Given the description of an element on the screen output the (x, y) to click on. 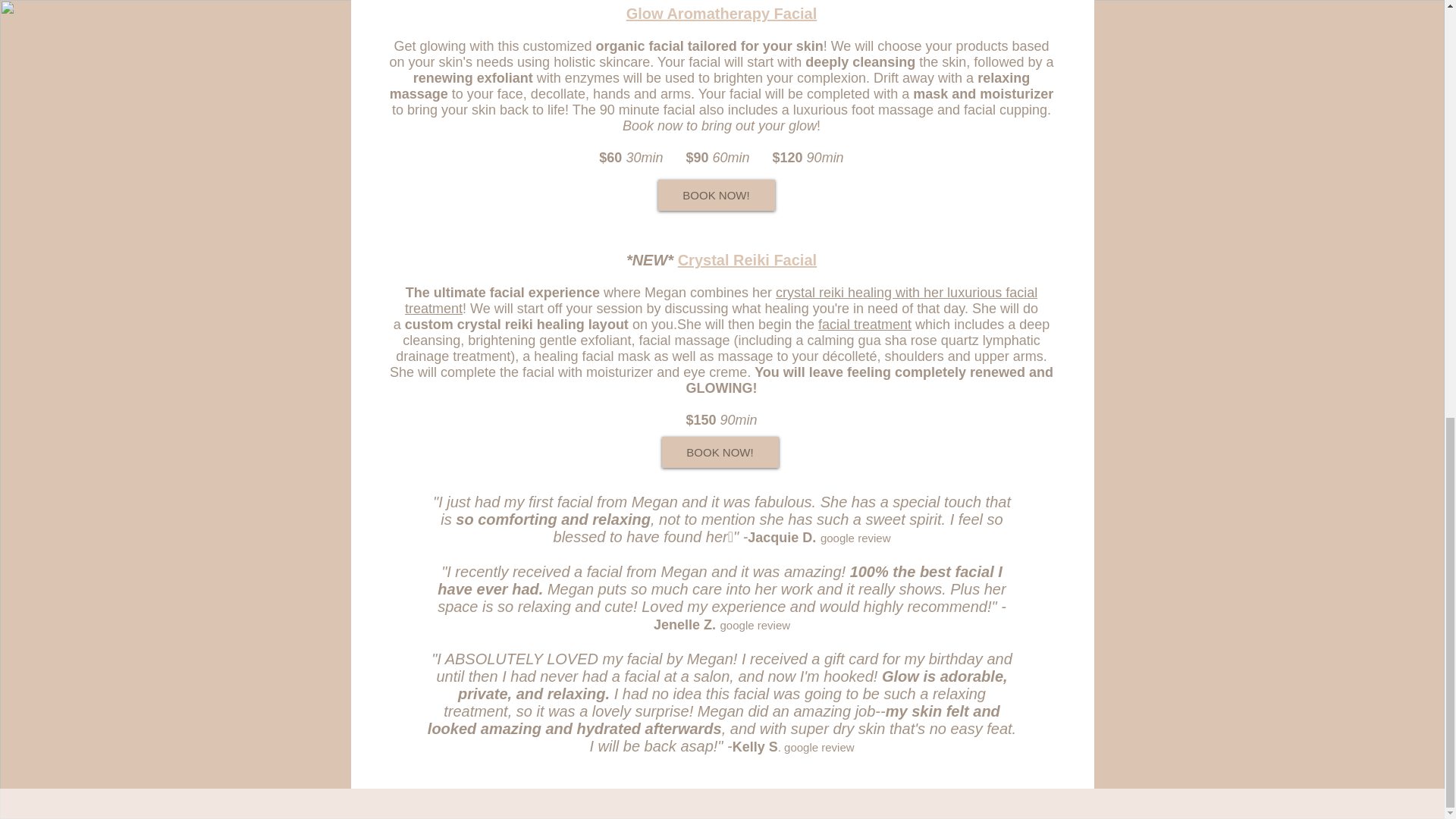
google review (856, 537)
BOOK NOW! (719, 451)
BOOK NOW! (716, 194)
Jacquie D. (781, 537)
